Given the description of an element on the screen output the (x, y) to click on. 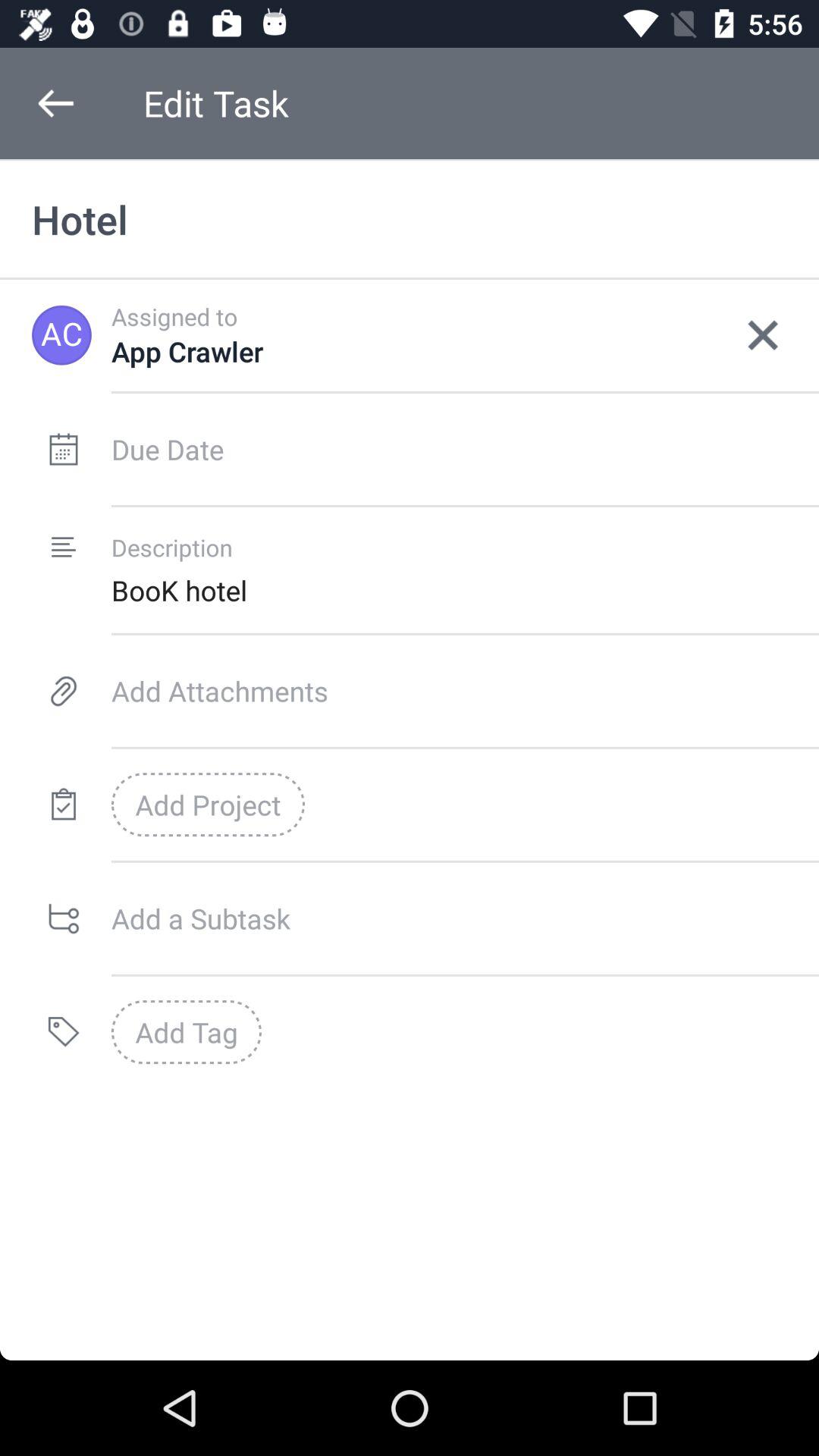
open the item above book hotel icon (763, 335)
